Given the description of an element on the screen output the (x, y) to click on. 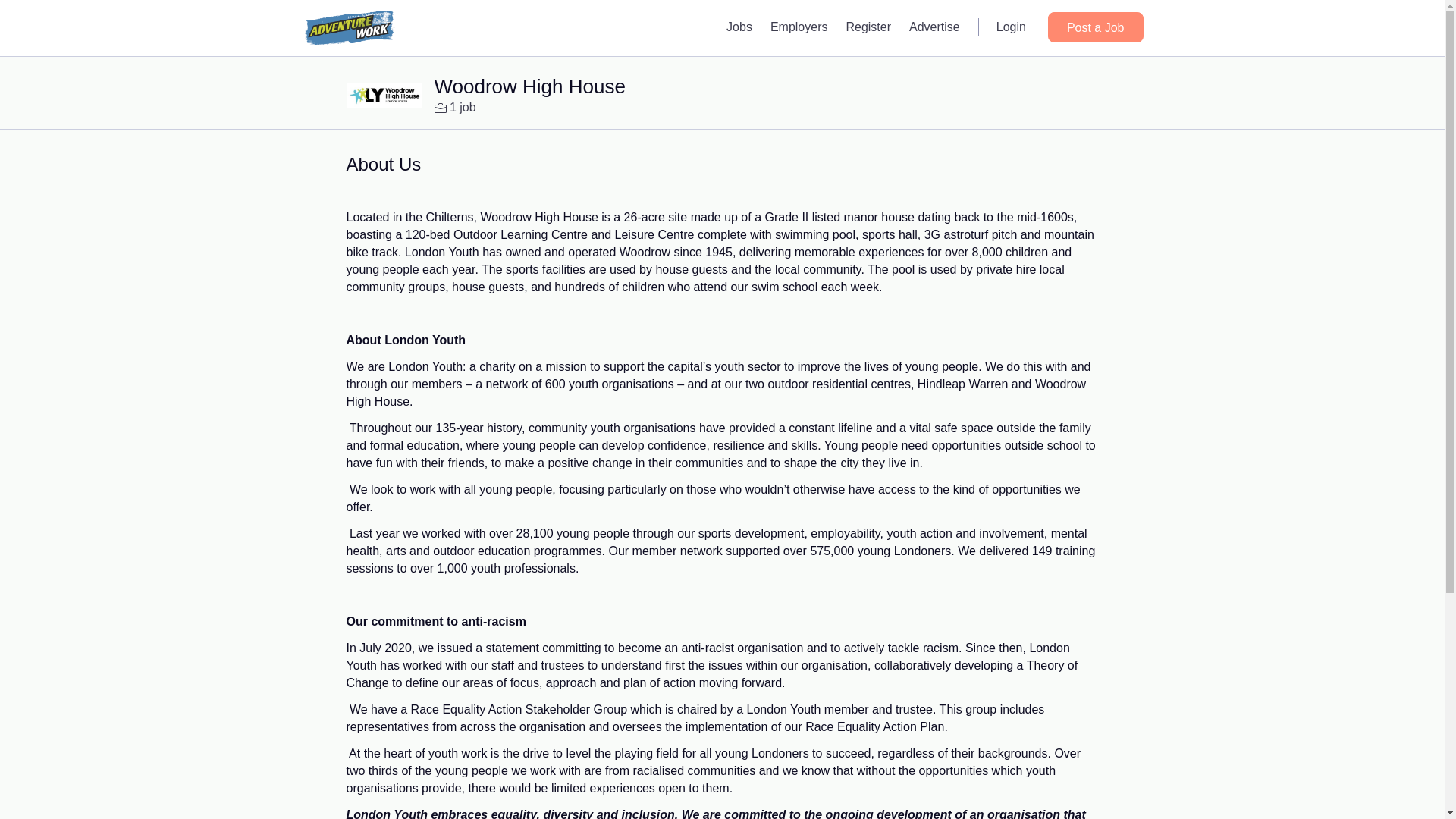
Register (867, 26)
1 job (454, 107)
Jobs (739, 26)
Post a Job (1095, 27)
Advertise (934, 26)
Login (1011, 26)
Employers (799, 26)
